Given the description of an element on the screen output the (x, y) to click on. 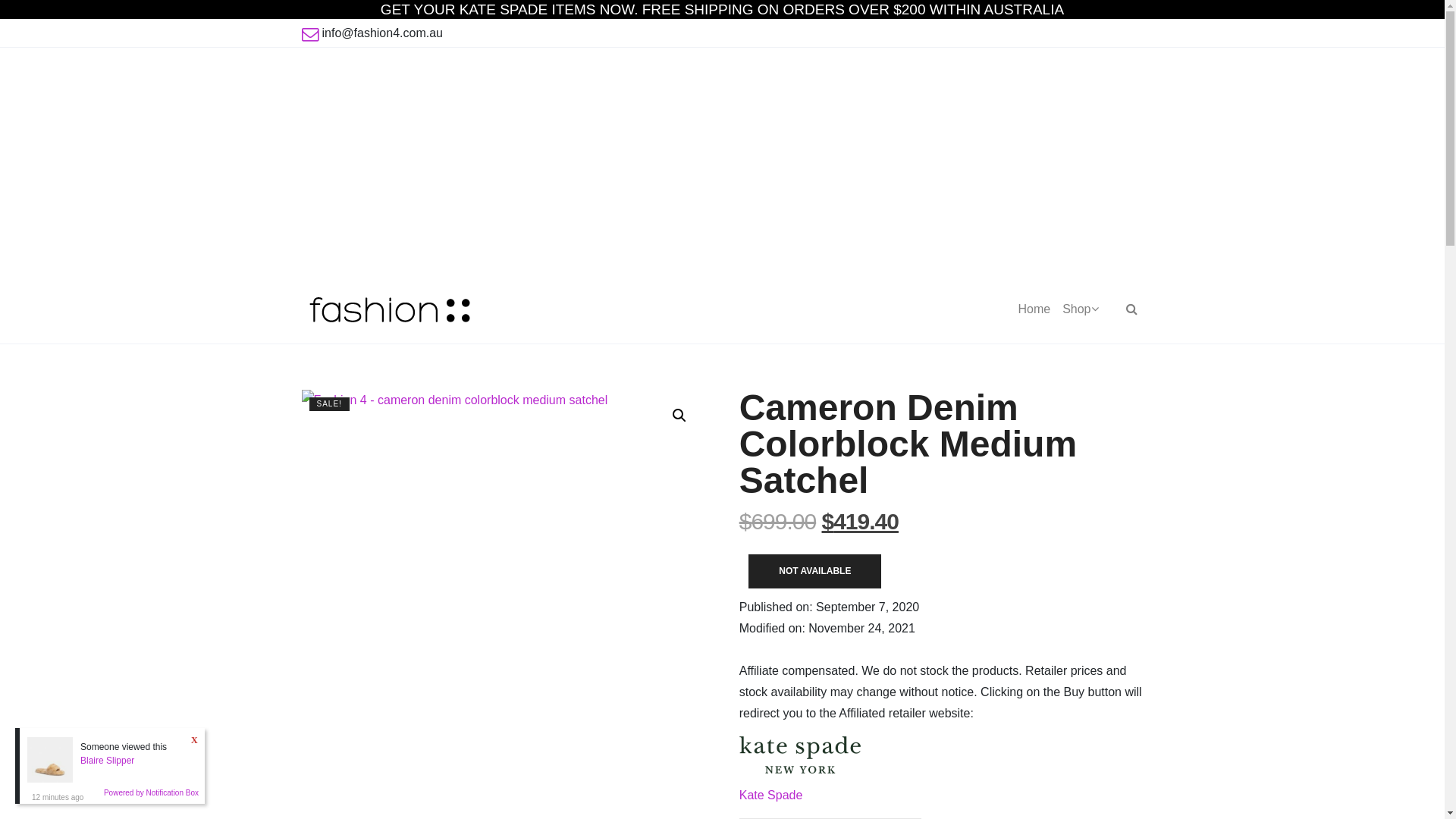
Powered by Notification Box Element type: text (150, 792)
Home Element type: text (1033, 309)
Advertisement Element type: hover (721, 161)
Fashion 4 - cameron denim colorblock medium satchel Element type: hover (503, 591)
X Element type: text (194, 739)
NOT AVAILABLE Element type: text (814, 571)
Shop Element type: text (1080, 309)
Fashion 4 Element type: hover (389, 309)
Kate Spade Element type: text (799, 773)
Blaire Slipper Element type: text (107, 760)
